Given the description of an element on the screen output the (x, y) to click on. 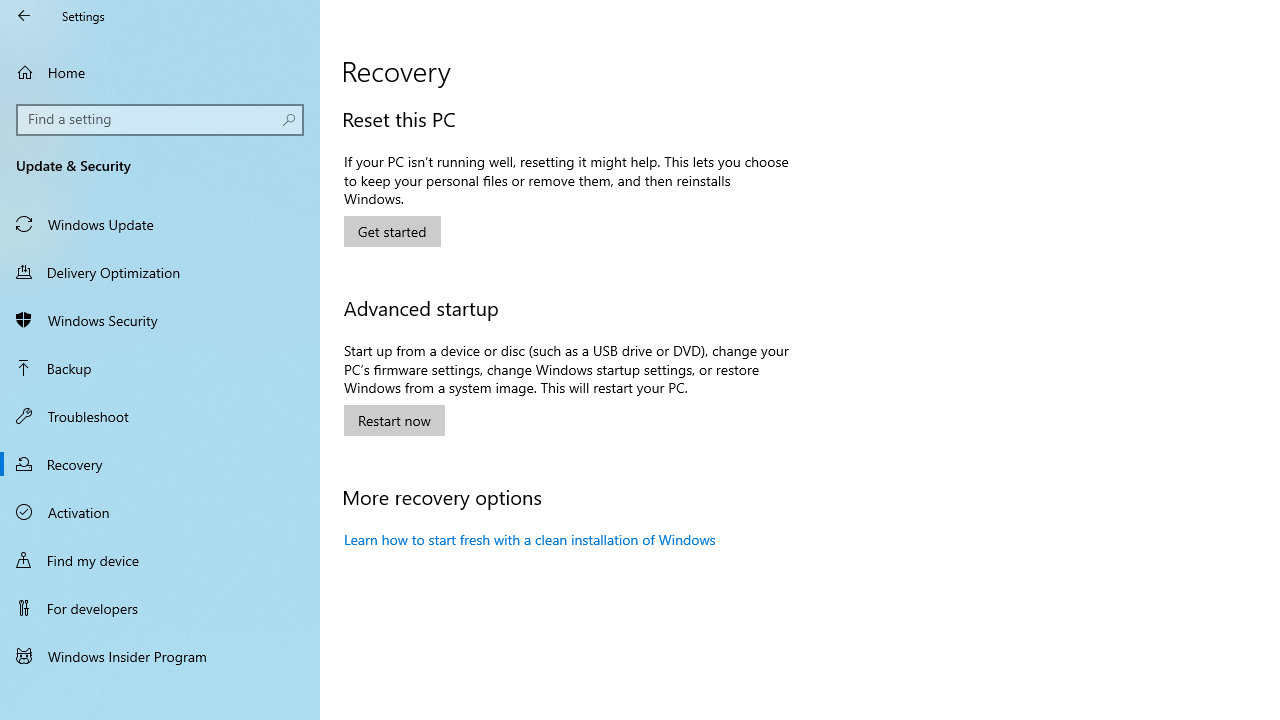
Delivery Optimization (160, 271)
